Given the description of an element on the screen output the (x, y) to click on. 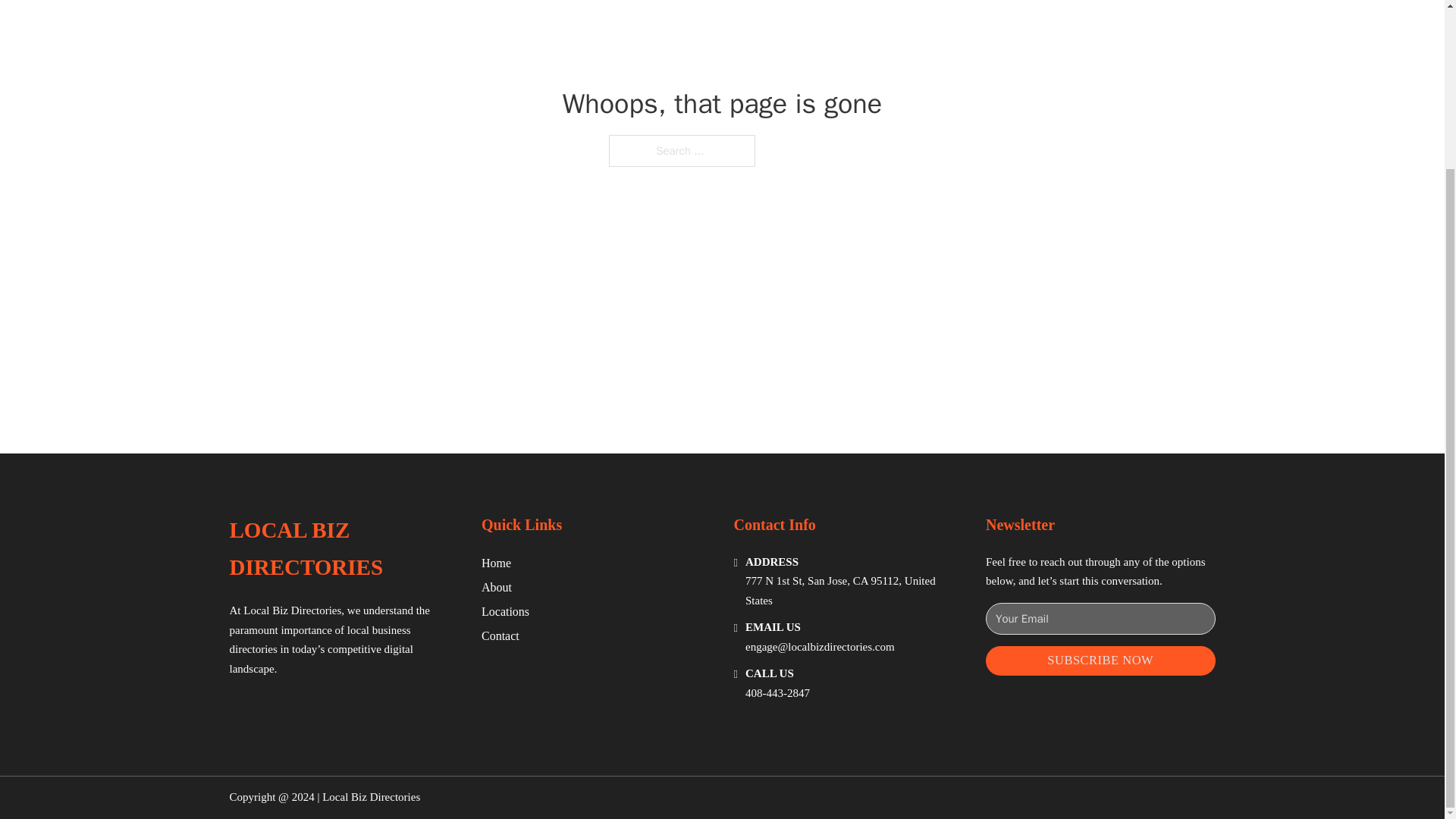
Home (496, 562)
Locations (505, 611)
SUBSCRIBE NOW (1100, 660)
LOCAL BIZ DIRECTORIES (343, 549)
408-443-2847 (777, 693)
About (496, 587)
Contact (500, 635)
